Given the description of an element on the screen output the (x, y) to click on. 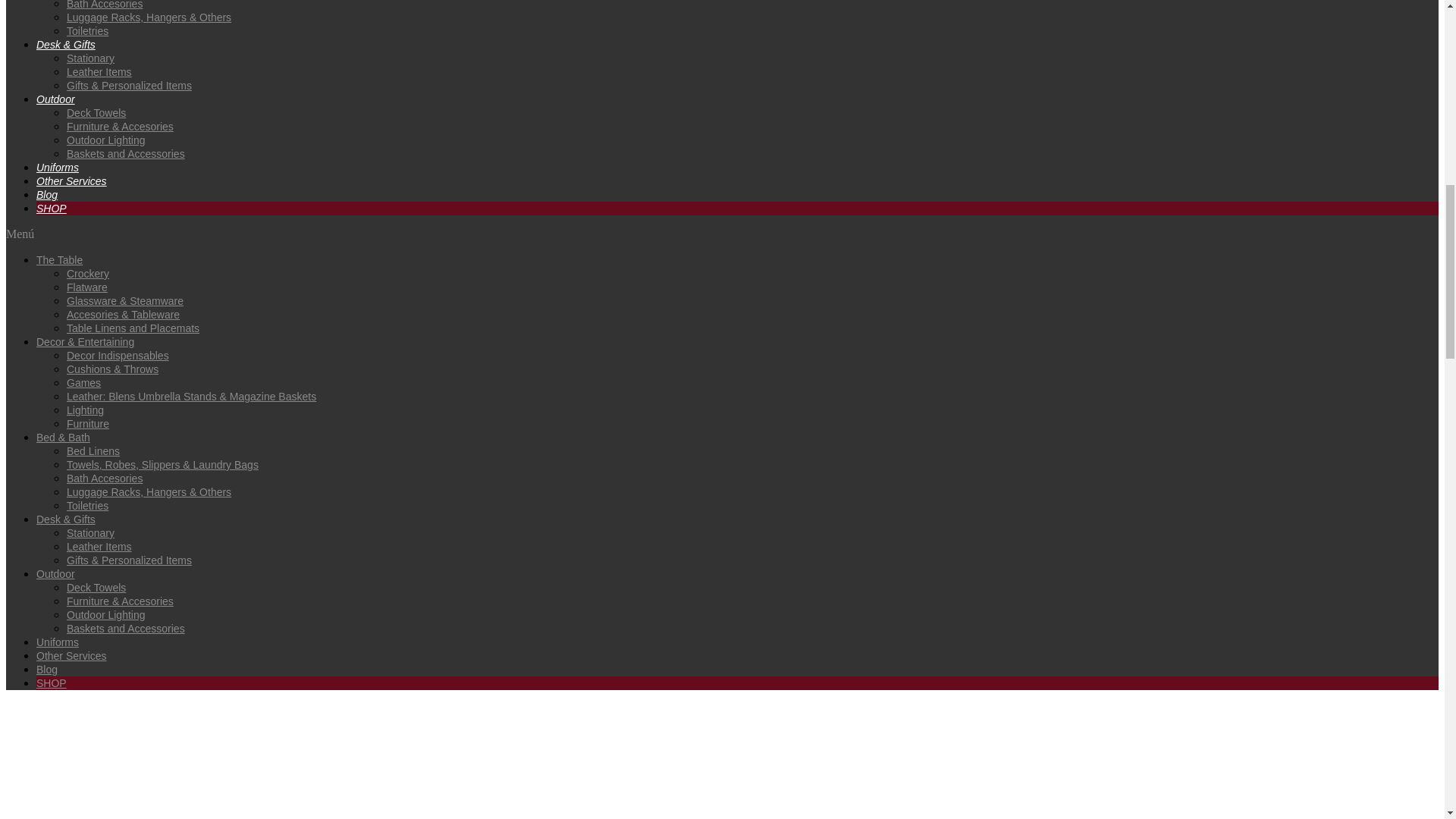
Bath Accesories (104, 4)
Leather Items (99, 71)
Stationary (90, 58)
Toiletries (86, 30)
